Given the description of an element on the screen output the (x, y) to click on. 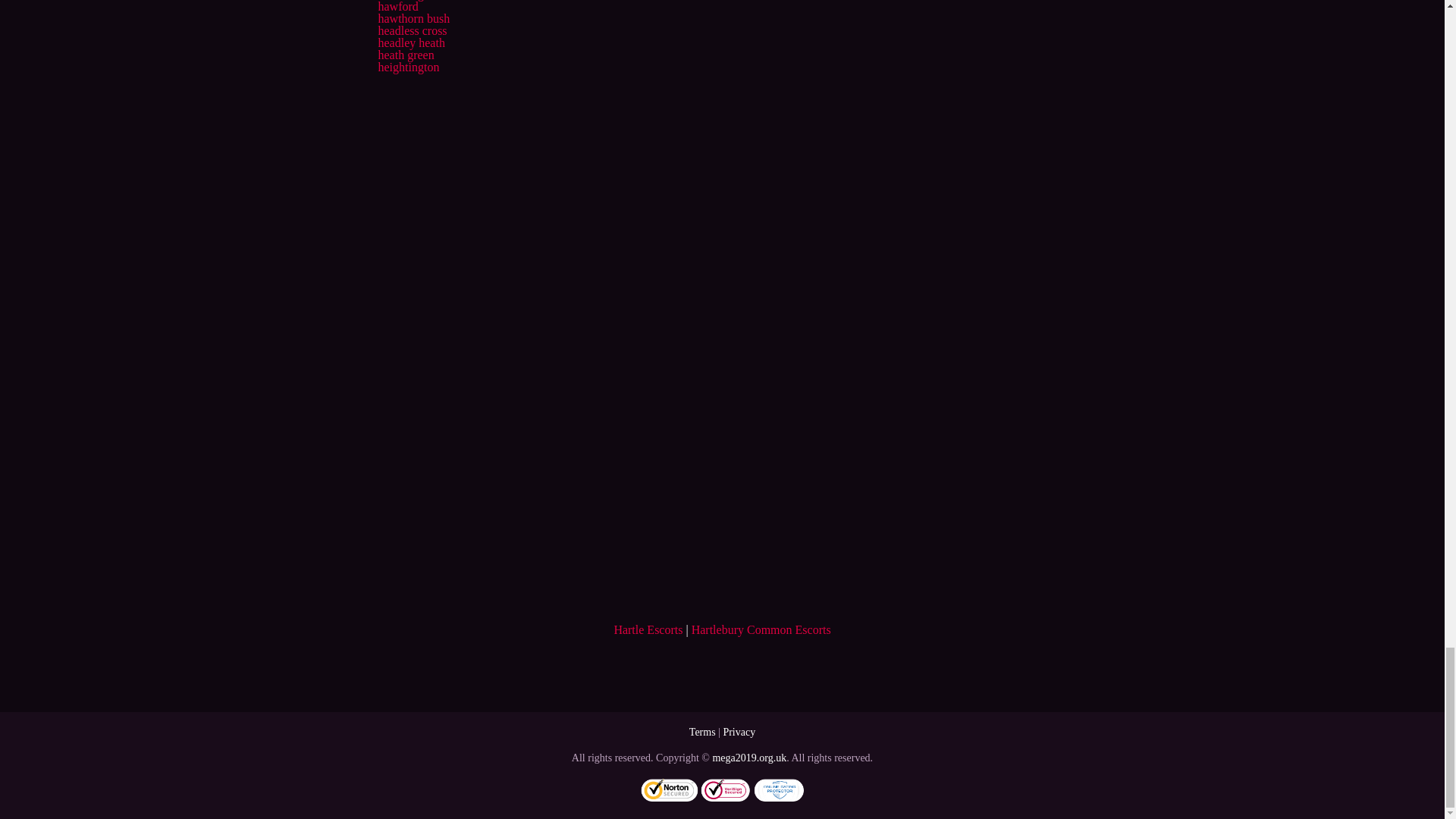
headley heath (410, 42)
Privacy (738, 731)
mega2019.org.uk (748, 757)
heightington (408, 66)
headless cross (411, 30)
hawthorn bush (413, 18)
Hartlebury Common Escorts (761, 629)
Privacy (738, 731)
hawbridge (403, 0)
heath green (405, 54)
hawford (397, 6)
Hartle Escorts (647, 629)
Terms (702, 731)
Terms (702, 731)
